Given the description of an element on the screen output the (x, y) to click on. 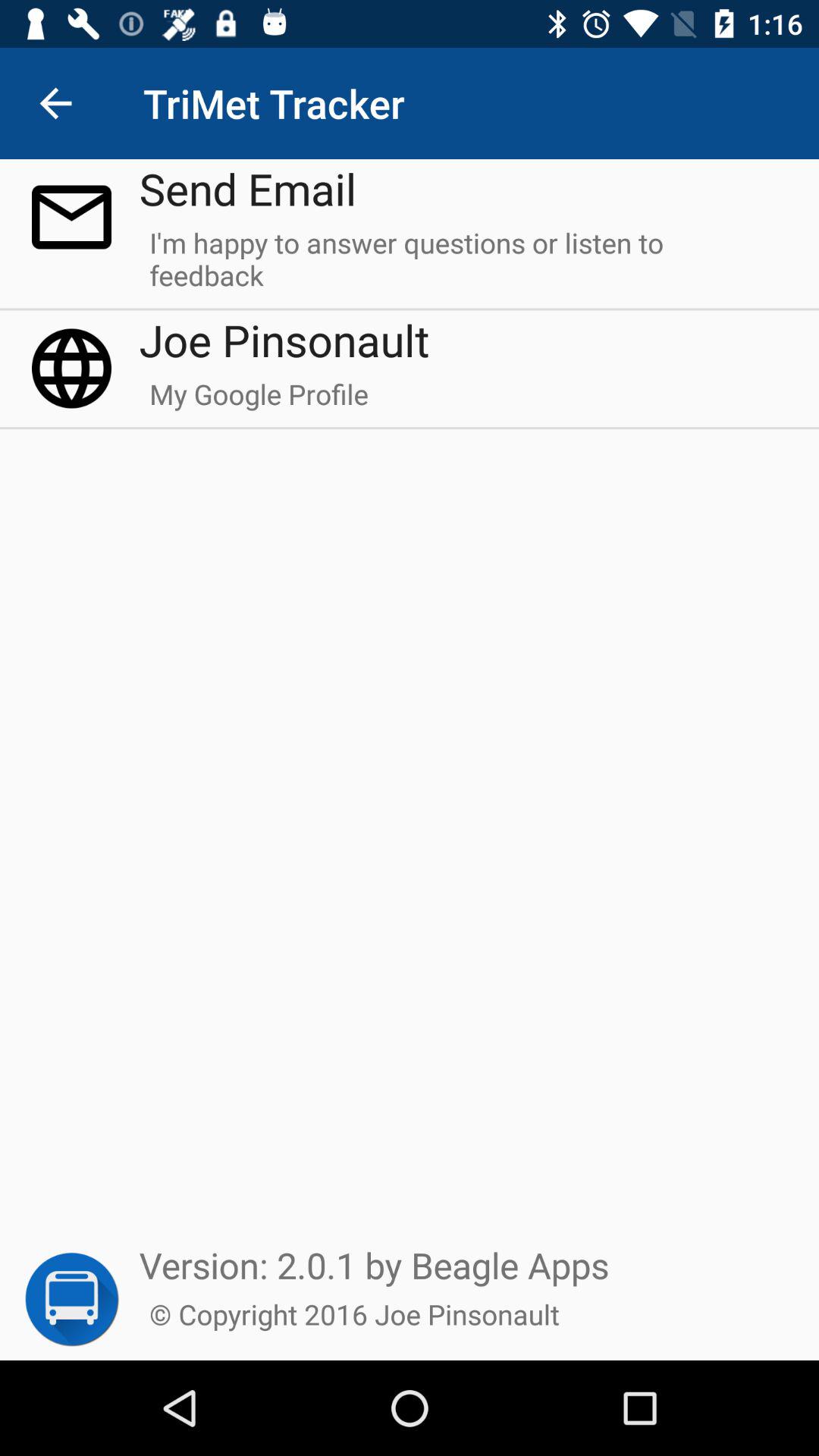
tap the send email item (247, 188)
